Given the description of an element on the screen output the (x, y) to click on. 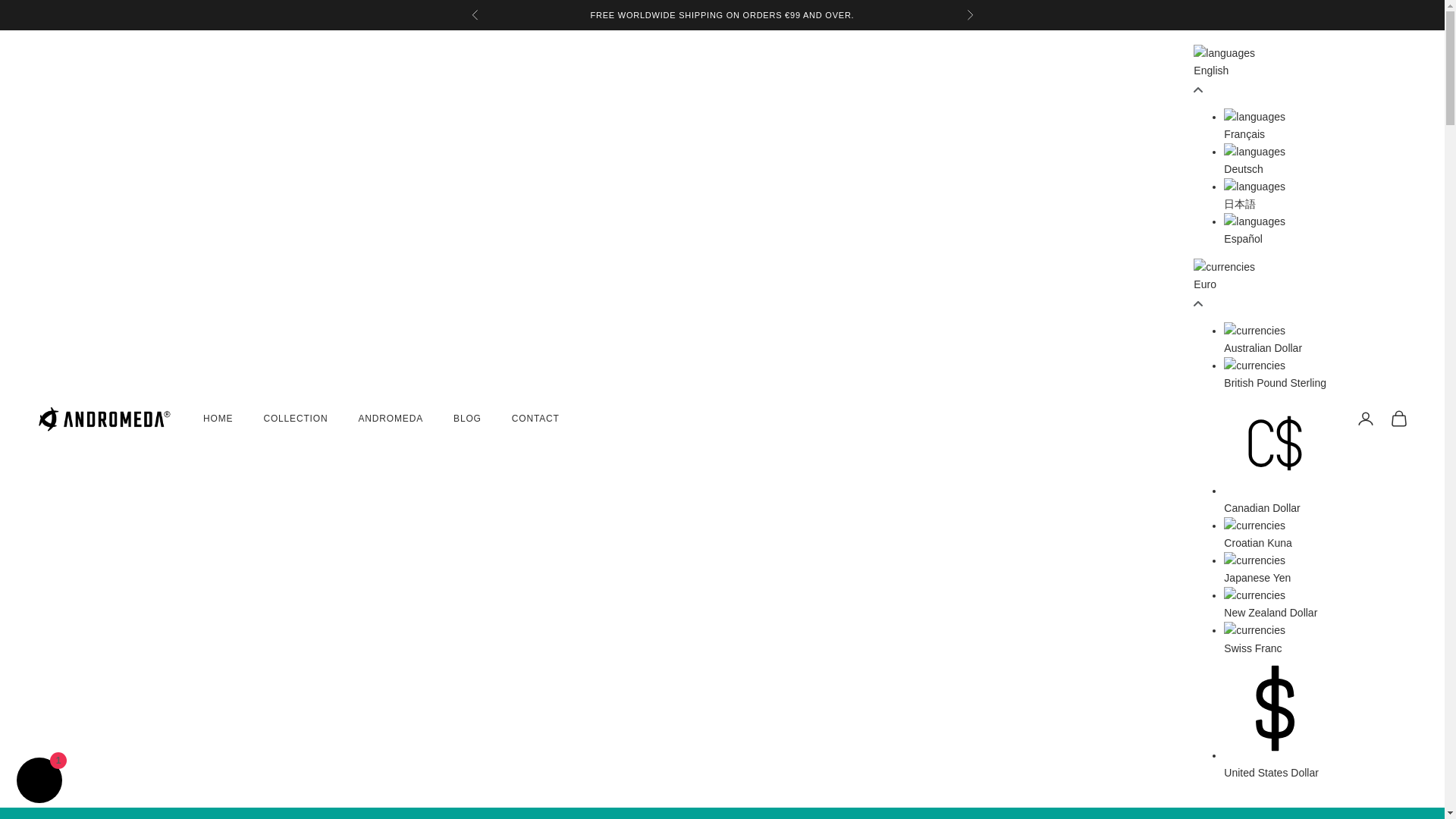
Shopify online store chat (38, 781)
Andromeda Moto (104, 418)
BLOG (466, 418)
HOME (217, 418)
